Given the description of an element on the screen output the (x, y) to click on. 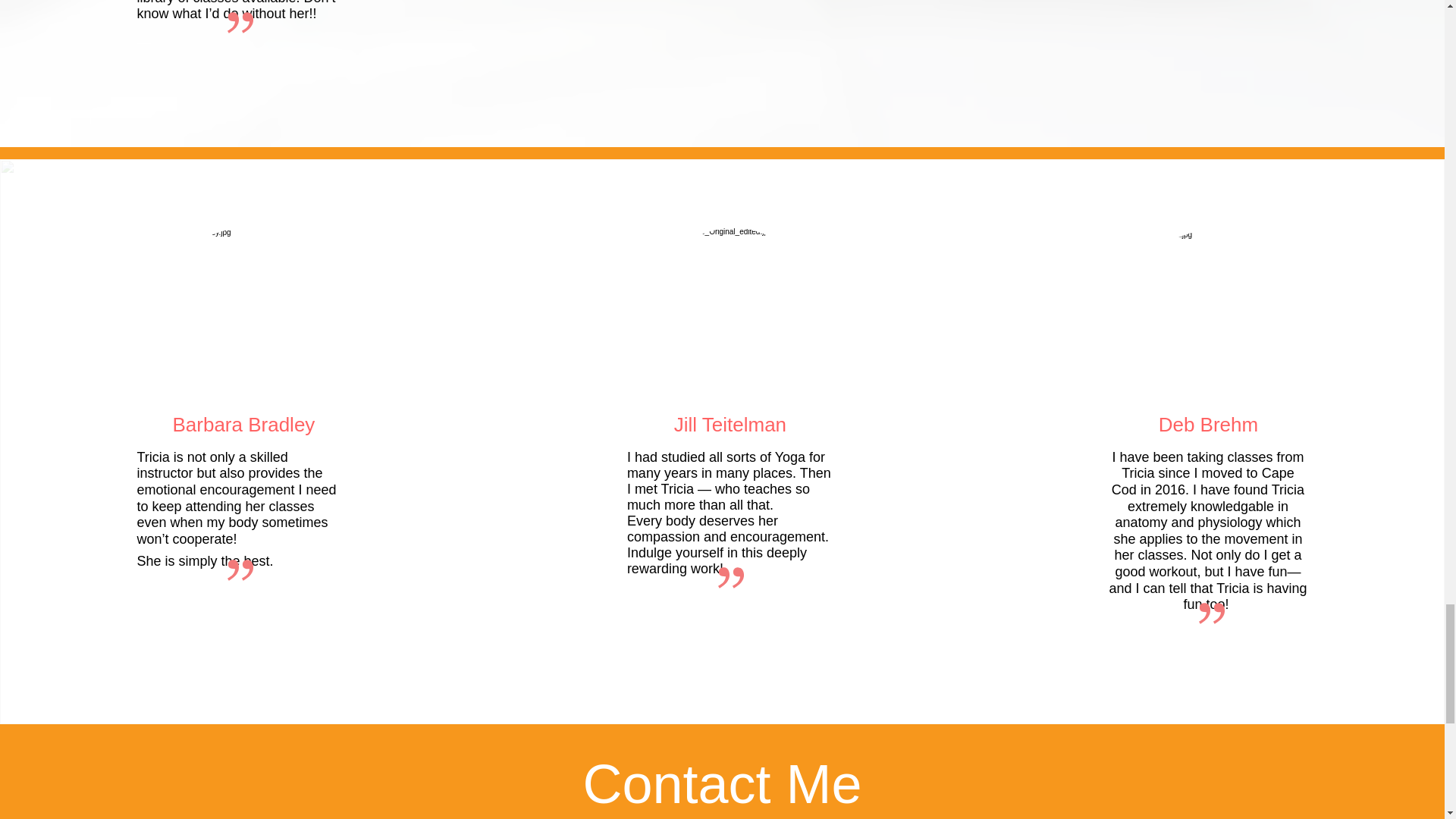
GettyImages-535587703.jpg (242, 304)
GettyImages-124893619.jpg (733, 303)
GettyImages-145680711.jpg (1209, 306)
